Given the description of an element on the screen output the (x, y) to click on. 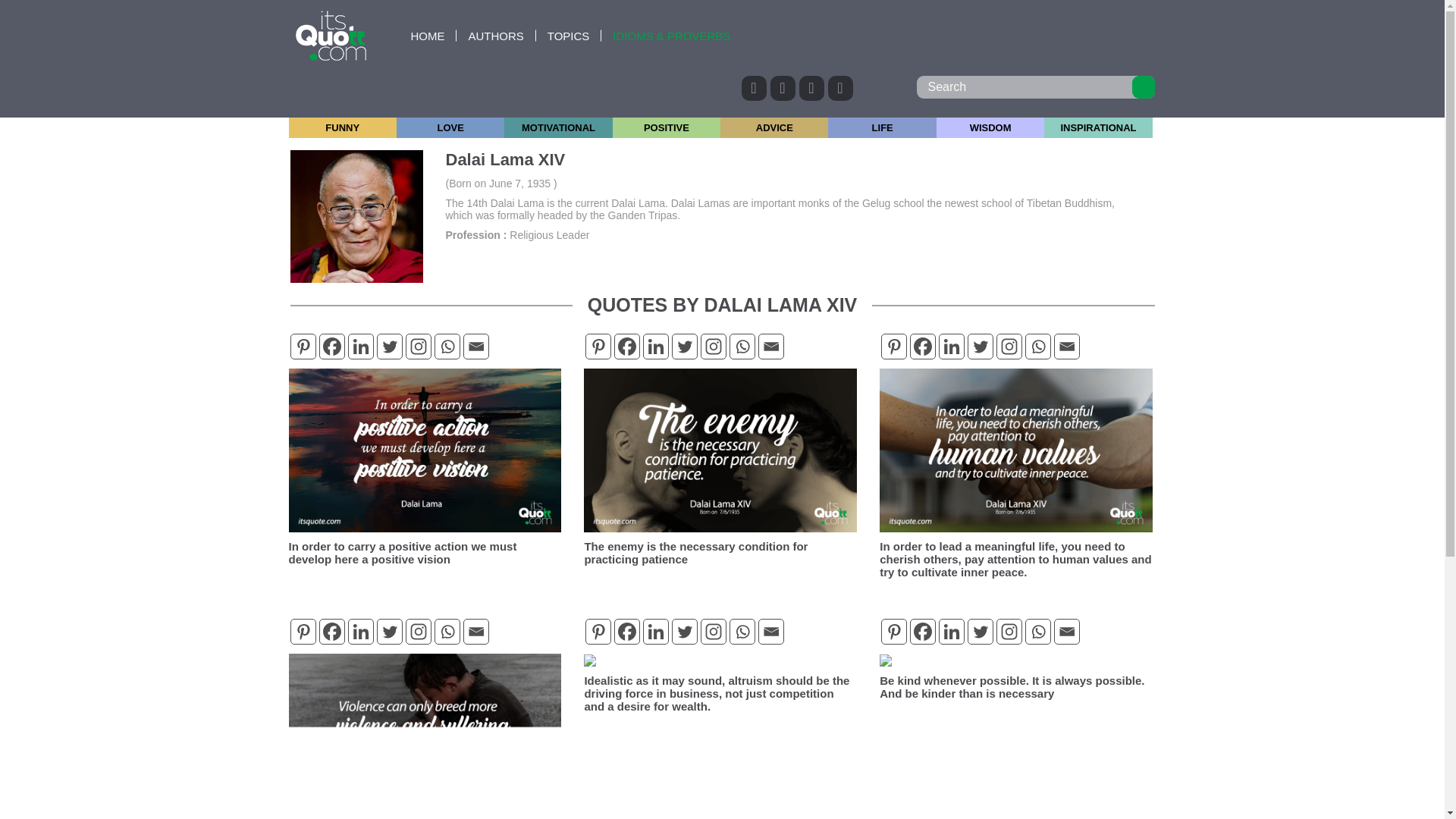
Twitter (684, 346)
Whatsapp (742, 346)
HOME (427, 34)
LIFE (882, 127)
Facebook (330, 346)
The enemy is the necessary condition for practicing patience (695, 552)
FUNNY (342, 127)
Facebook (627, 346)
Email (475, 346)
Instagram (417, 346)
